Given the description of an element on the screen output the (x, y) to click on. 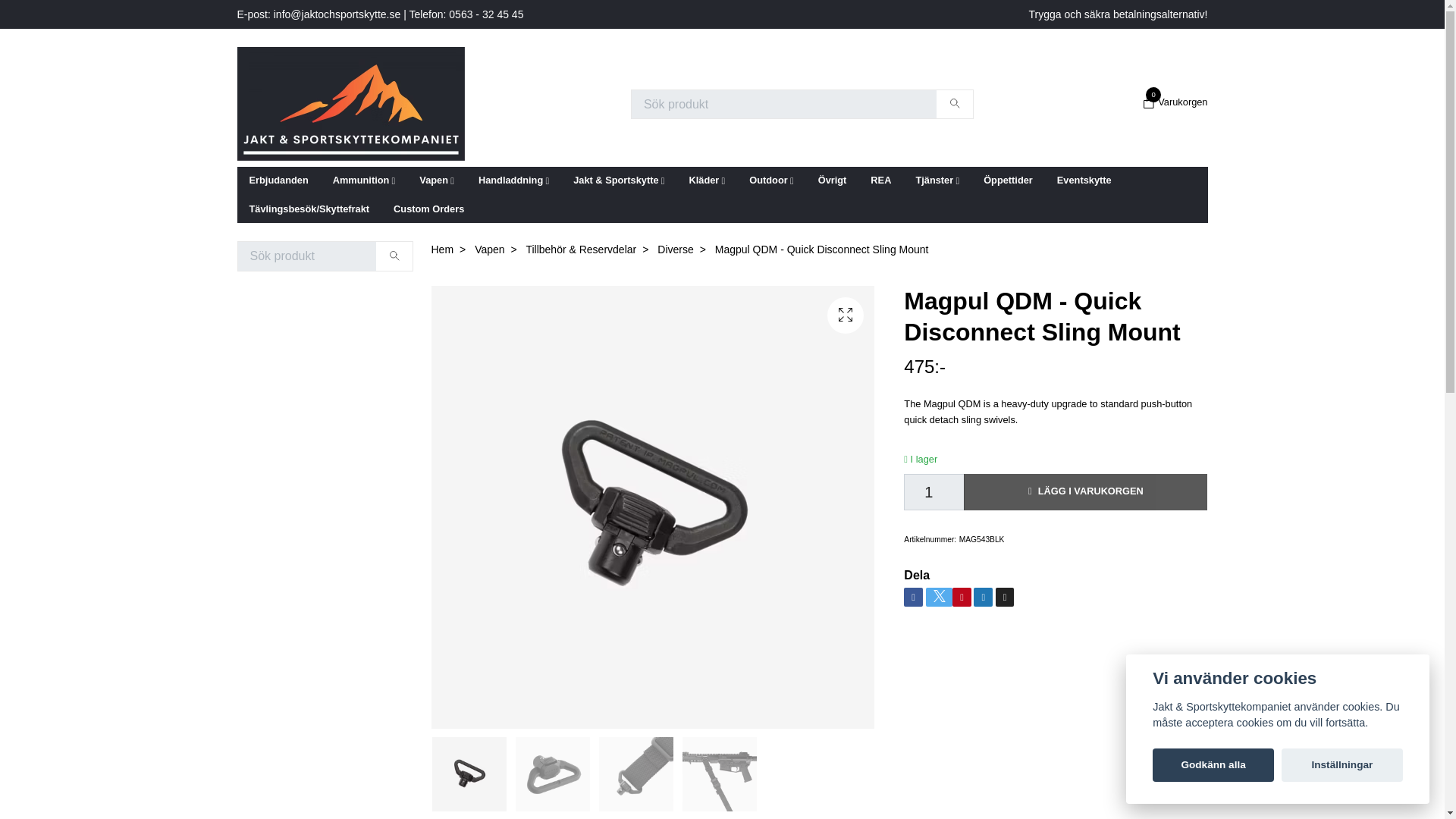
1 (933, 491)
Erbjudanden (1173, 102)
Ammunition (277, 180)
Custom Orders (363, 180)
REA (428, 208)
Erbjudanden (880, 180)
Eventskytte (277, 180)
Vapen (1084, 180)
